Given the description of an element on the screen output the (x, y) to click on. 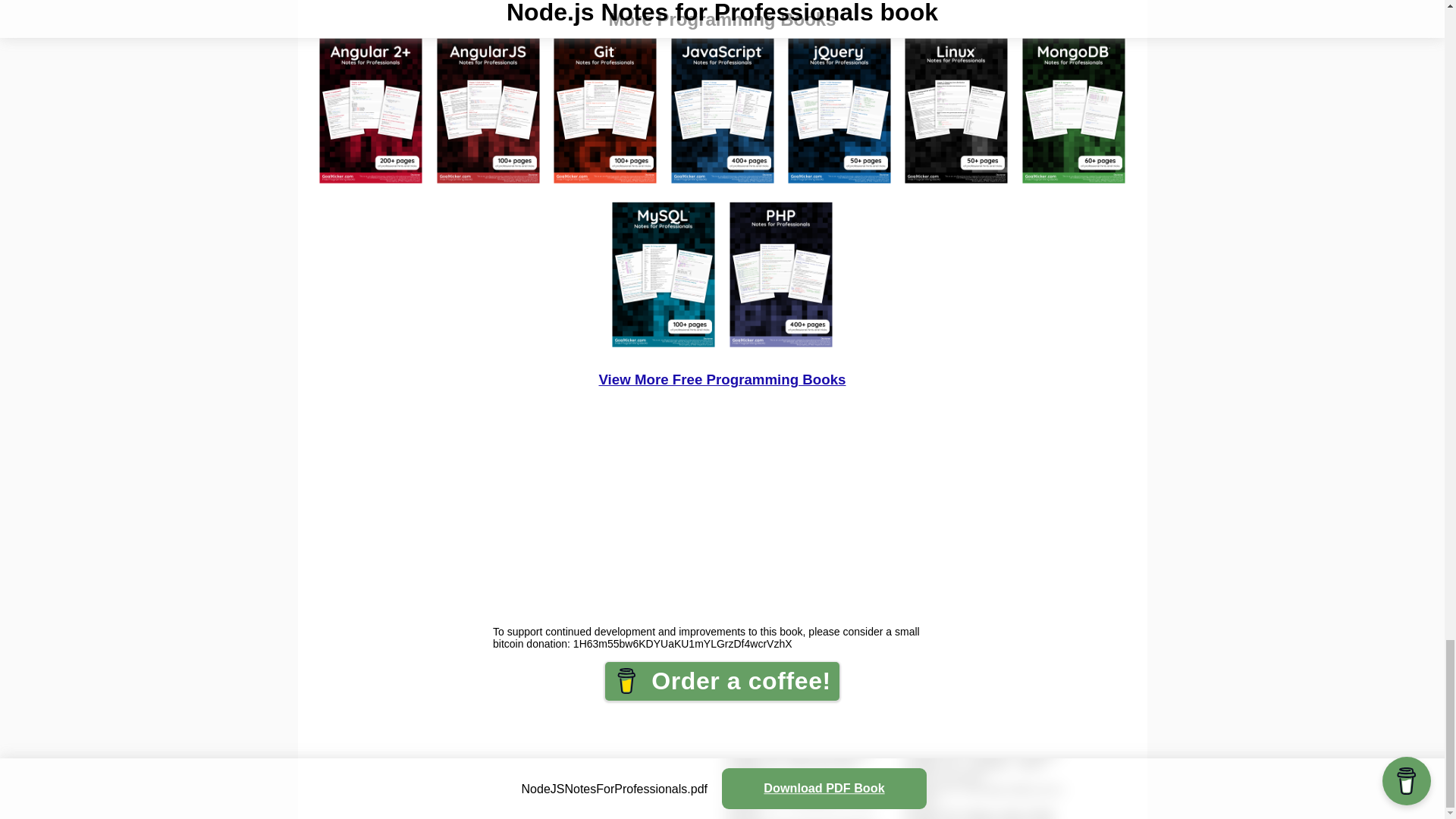
View More Free Programming Books (721, 379)
Order a coffee! (722, 681)
